Given the description of an element on the screen output the (x, y) to click on. 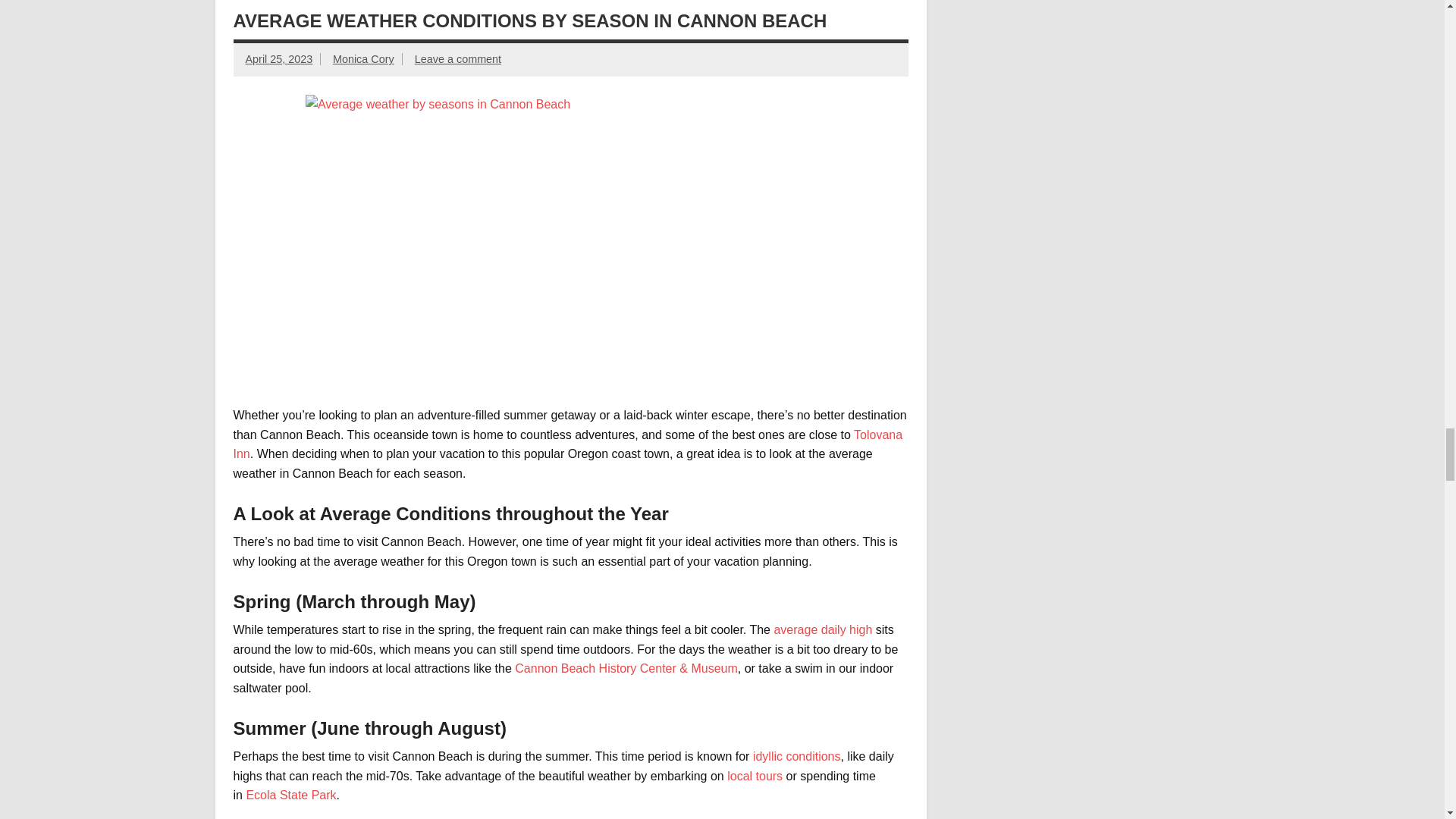
View all posts by Monica Cory (363, 59)
9:13 pm (279, 59)
